Given the description of an element on the screen output the (x, y) to click on. 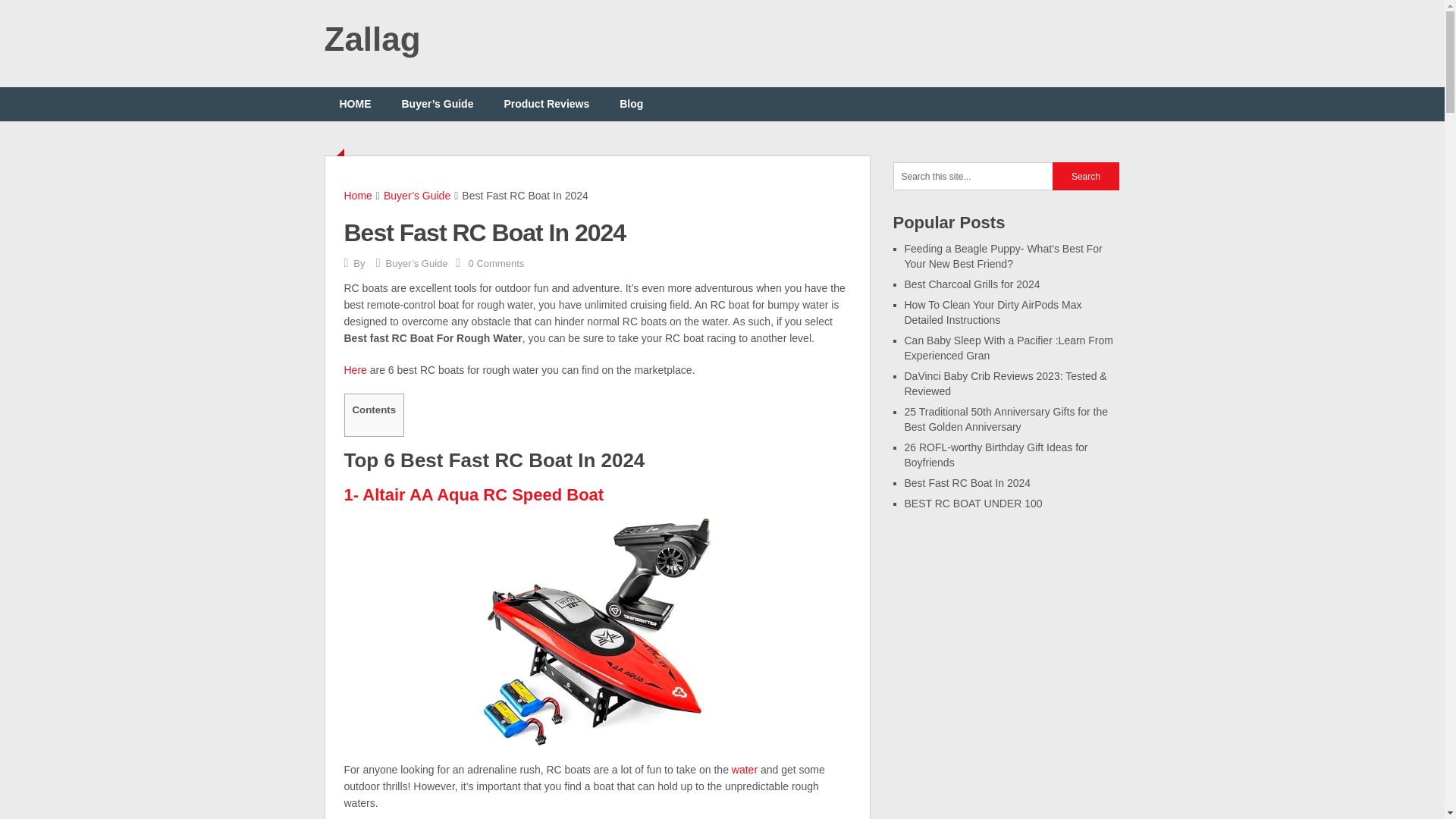
Search (1085, 176)
Zallag (372, 38)
Product Reviews (545, 103)
Home (357, 195)
Best Charcoal Grills for 2024 (971, 284)
1- Altair AA Aqua RC Speed Boat  (475, 494)
water (744, 769)
0 Comments (496, 263)
HOME (355, 103)
Search this site... (972, 176)
